Given the description of an element on the screen output the (x, y) to click on. 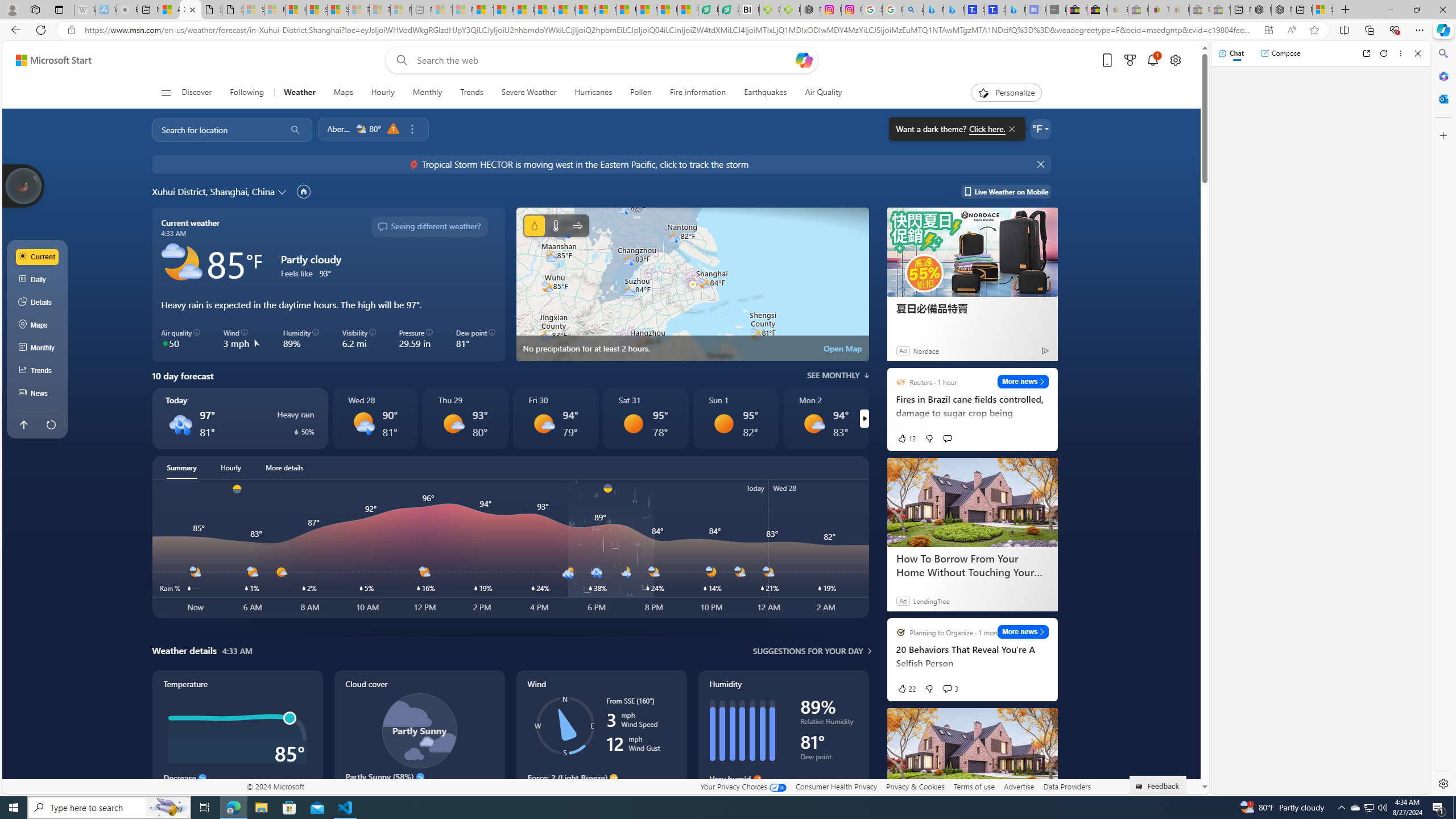
Sign in to your Microsoft account (1322, 9)
Terms of use (973, 785)
More news (1022, 631)
Temperature (237, 741)
Pressure 29.59 in (415, 338)
Data Providers (1066, 786)
Hourly (382, 92)
Air Quality (818, 92)
Microsoft rewards (1129, 60)
Personalize (1006, 92)
